Given the description of an element on the screen output the (x, y) to click on. 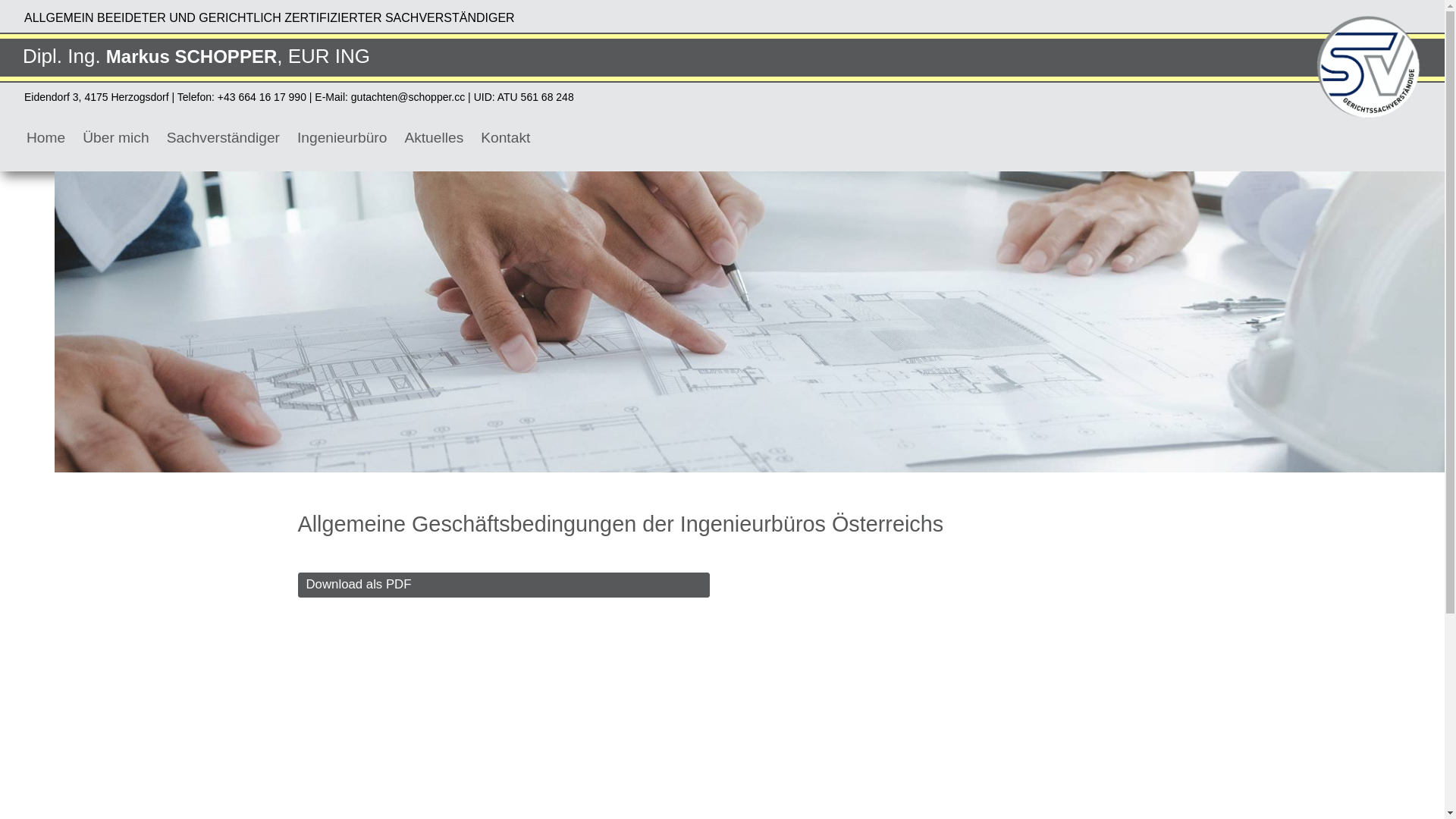
Kontakt Element type: text (504, 137)
Home Element type: text (45, 137)
Aktuelles Element type: text (433, 137)
gutachten@schopper.cc Element type: text (407, 97)
+43 664 16 17 990 Element type: text (263, 97)
Download als PDF Element type: text (503, 584)
